Given the description of an element on the screen output the (x, y) to click on. 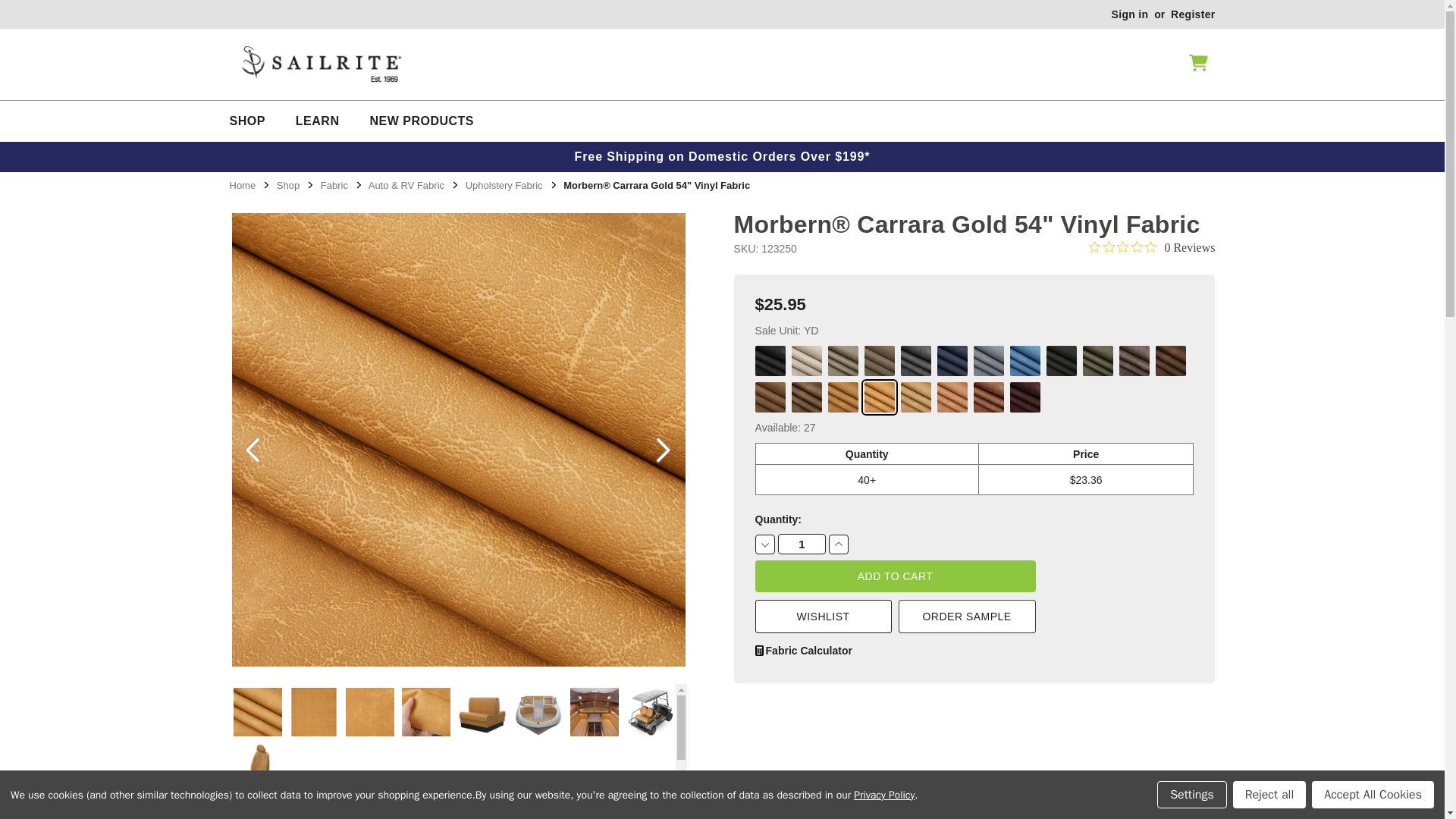
SHOP (246, 120)
Register (1192, 14)
Add to Cart (895, 576)
1 (801, 543)
0 Reviews (1151, 247)
Sign in (1130, 14)
